Given the description of an element on the screen output the (x, y) to click on. 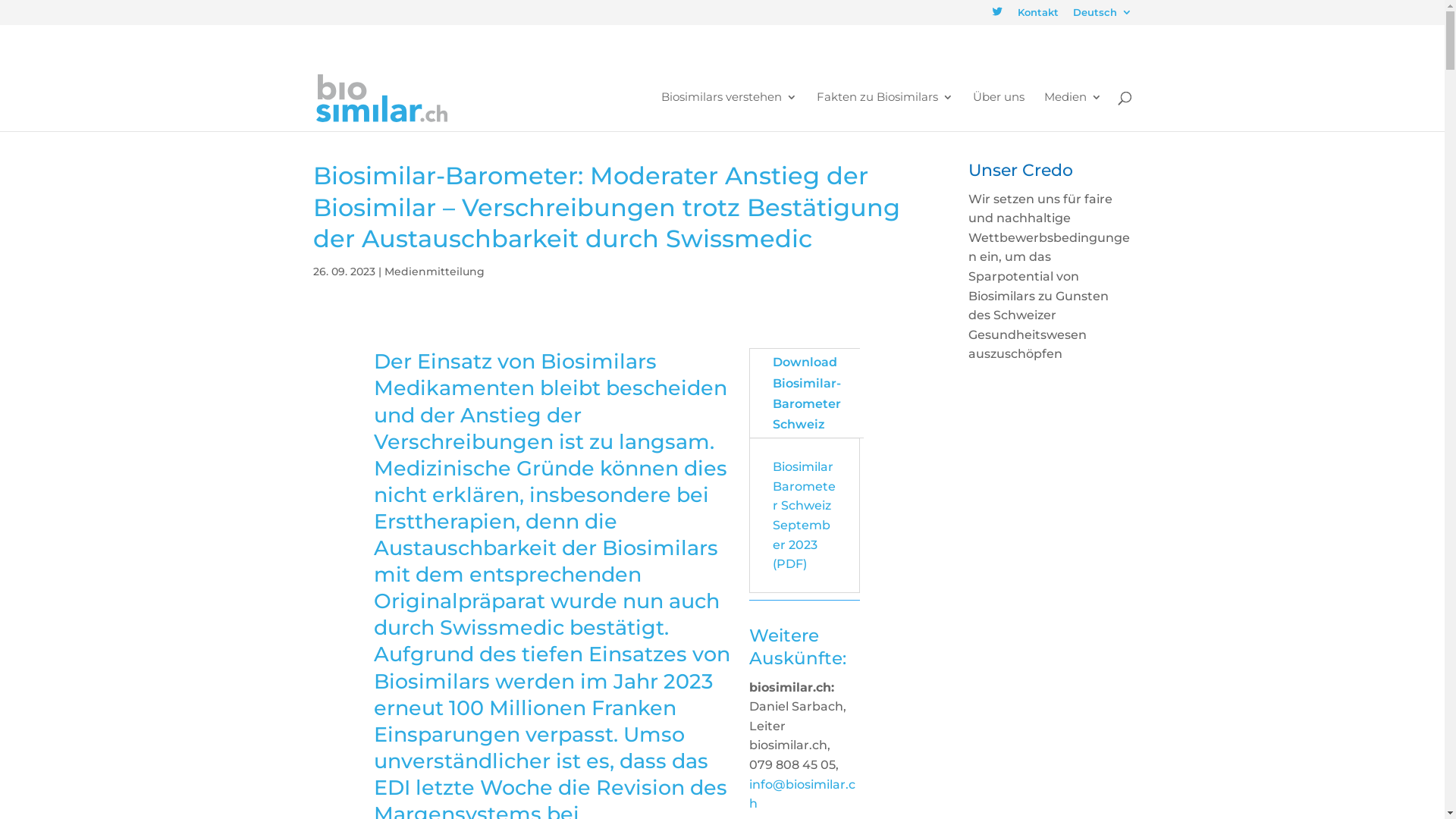
Biosimilars verstehen Element type: text (729, 111)
Biosimilar Barometer Schweiz September 2023 (PDF) Element type: text (803, 515)
Download Biosimilar-Barometer Schweiz Element type: text (806, 392)
Kontakt Element type: text (1037, 16)
info@biosimilar.ch Element type: text (802, 794)
Deutsch Element type: text (1101, 16)
Fakten zu Biosimilars Element type: text (883, 111)
Medien Element type: text (1072, 111)
Medienmitteilung Element type: text (433, 271)
